Given the description of an element on the screen output the (x, y) to click on. 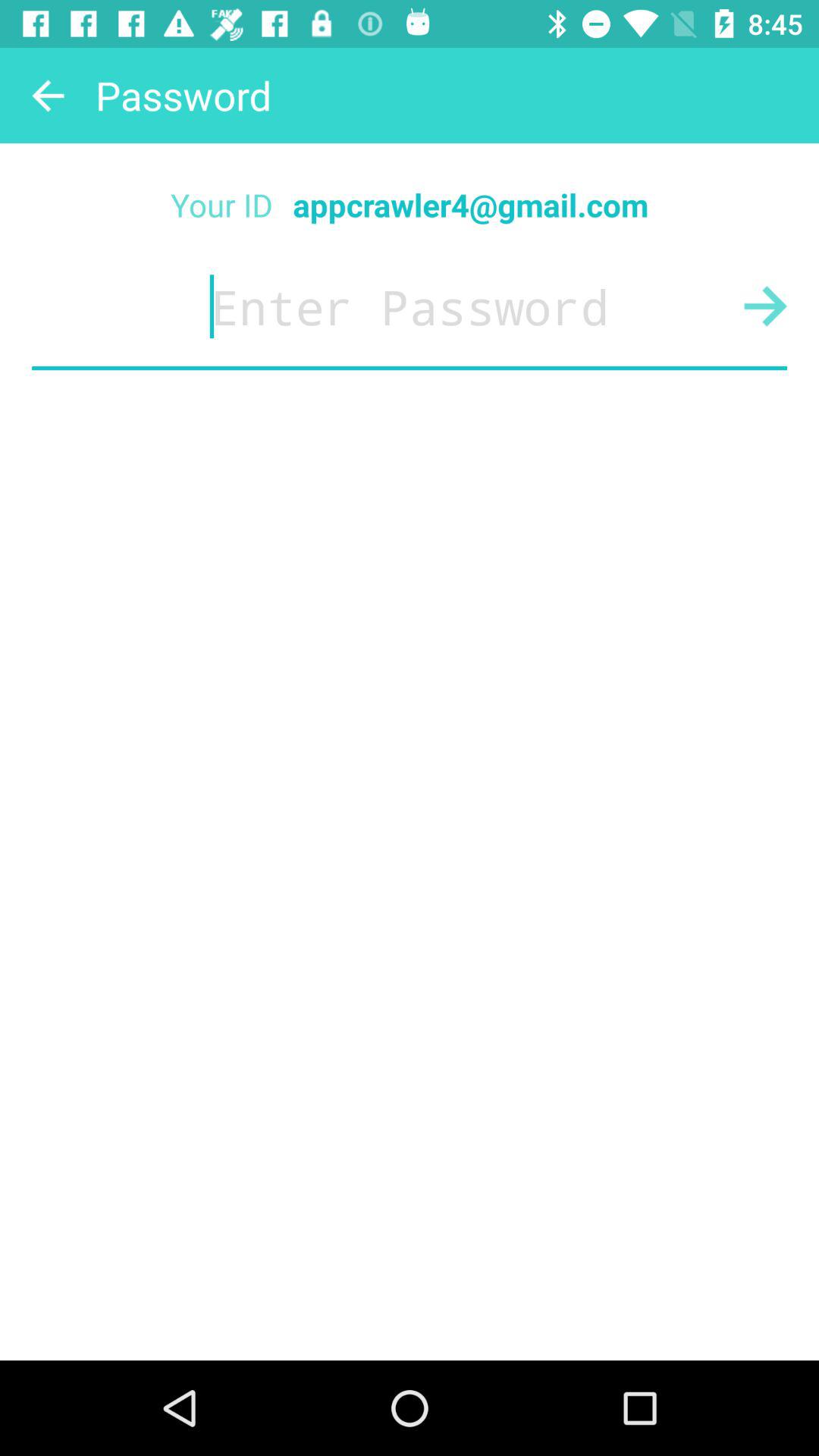
open item next to the password icon (47, 95)
